Given the description of an element on the screen output the (x, y) to click on. 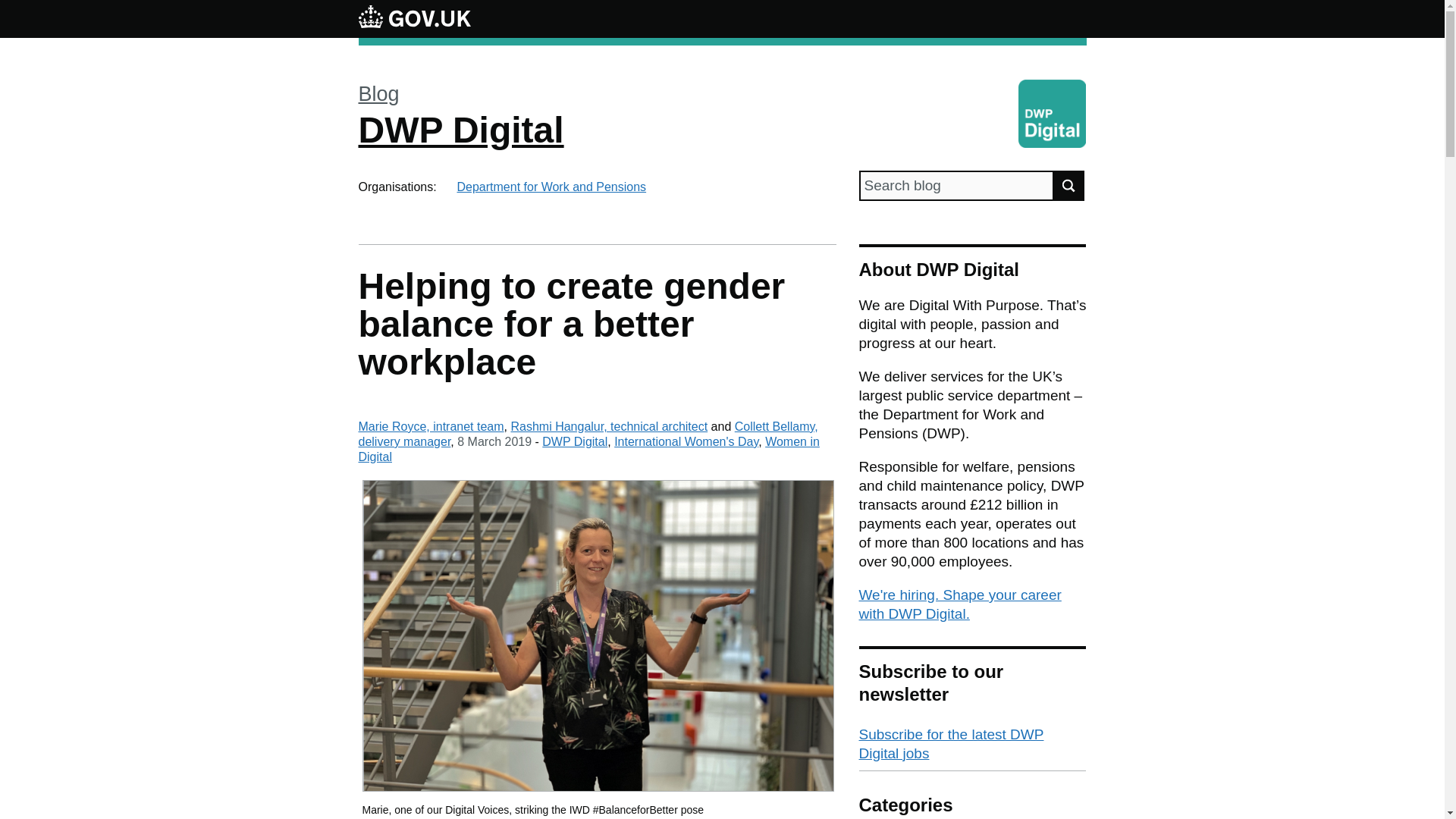
Go to the GOV.UK homepage (414, 18)
GOV.UK (414, 18)
Posts by Rashmi Hangalur, technical architect (609, 426)
Subscribe for the latest DWP Digital jobs (972, 744)
Blog (378, 93)
Women in Digital (588, 448)
Collett Bellamy, delivery manager (587, 433)
We're hiring. Shape your career with DWP Digital. (960, 604)
DWP Digital (574, 440)
Posts by Marie Royce, intranet team (430, 426)
GOV.UK (414, 15)
Posts by Collett Bellamy, delivery manager (587, 433)
Marie Royce, intranet team (430, 426)
International Women's Day (686, 440)
Rashmi Hangalur, technical architect (609, 426)
